Given the description of an element on the screen output the (x, y) to click on. 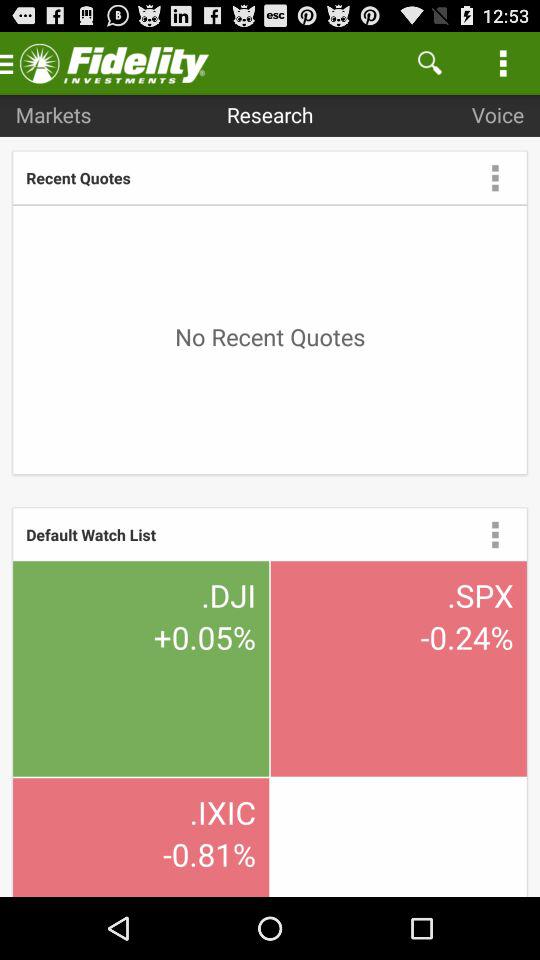
launch item above the recent quotes app (53, 114)
